Given the description of an element on the screen output the (x, y) to click on. 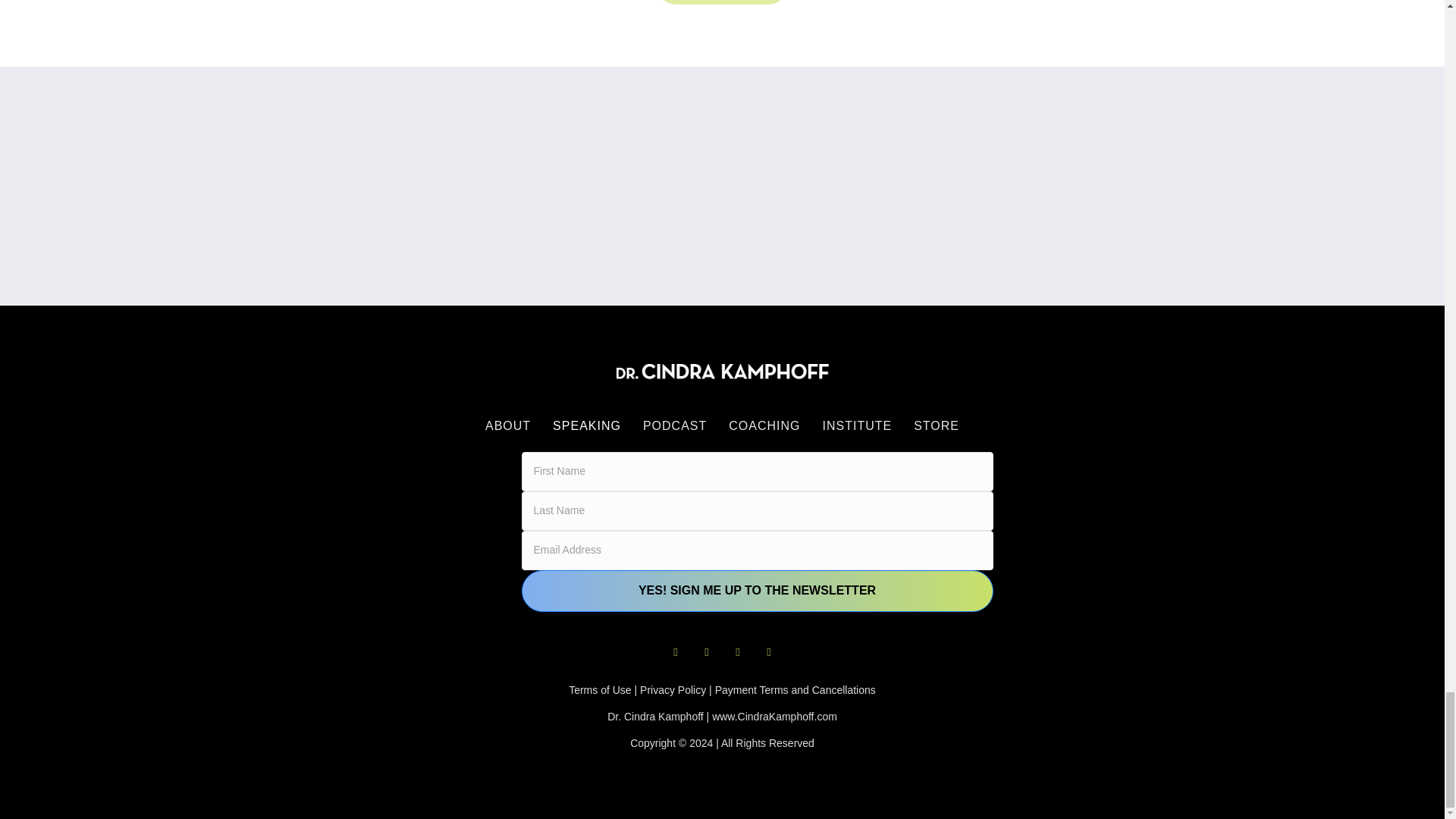
PODCAST (674, 425)
www.CindraKamphoff.com (774, 716)
Privacy Policy (673, 689)
Terms of Use (599, 689)
YES! SIGN ME UP TO THE NEWSLETTER (756, 590)
Submit (721, 2)
SPEAKING (586, 425)
Cindra on stage (722, 186)
Submit (721, 2)
Payment Terms and Cancellations (795, 689)
logo (721, 371)
COACHING (763, 425)
INSTITUTE (856, 425)
Back fo the Room 2 (989, 186)
Back of the Room (453, 186)
